Given the description of an element on the screen output the (x, y) to click on. 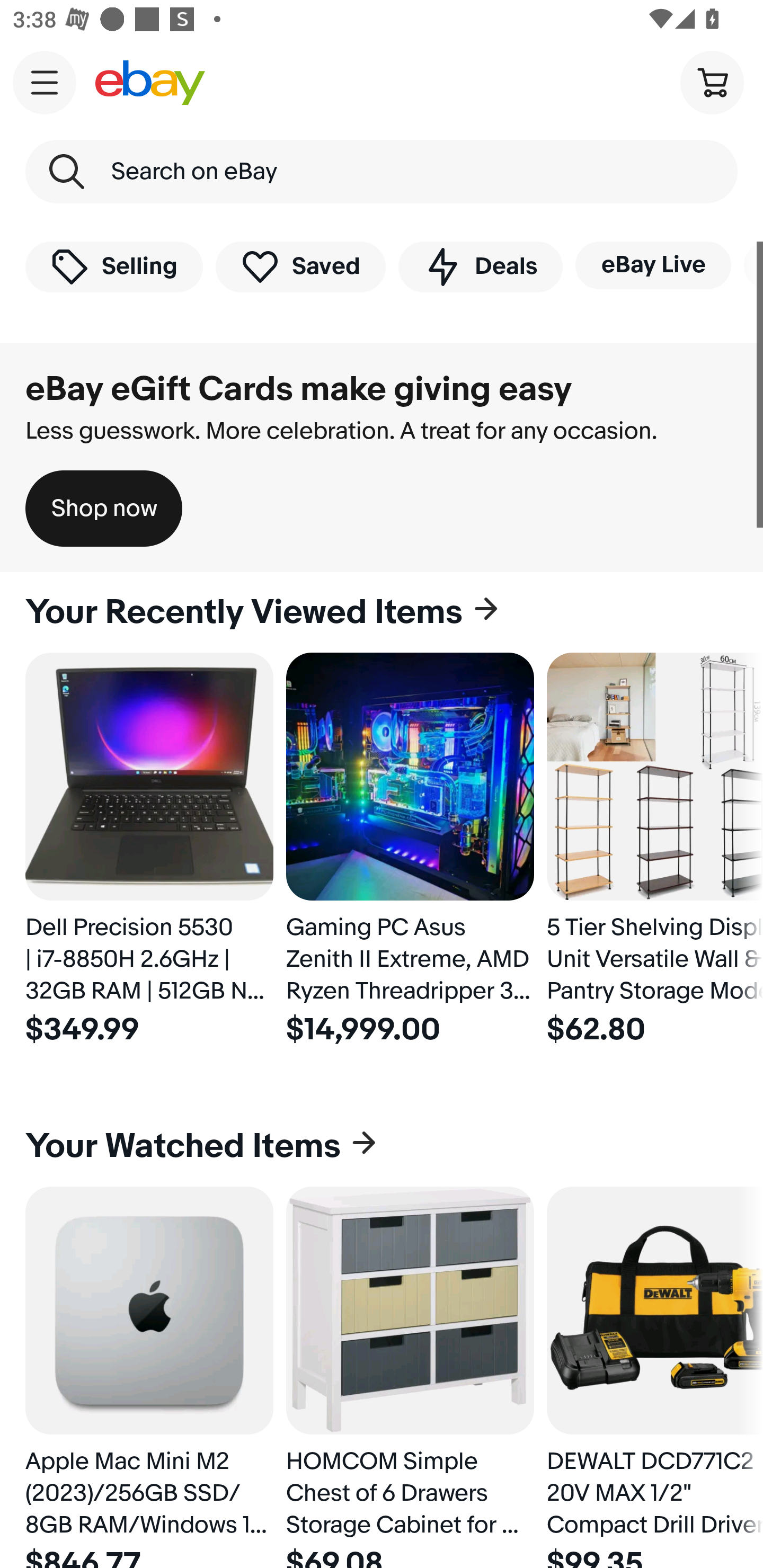
Main navigation, open (44, 82)
Cart button shopping cart (711, 81)
Search on eBay Search Keyword Search on eBay (381, 171)
Selling (113, 266)
Saved (300, 266)
Deals (480, 266)
eBay Live (652, 264)
eBay eGift Cards make giving easy (298, 389)
Shop now (103, 508)
Your Recently Viewed Items   (381, 612)
Your Watched Items   (381, 1145)
